Given the description of an element on the screen output the (x, y) to click on. 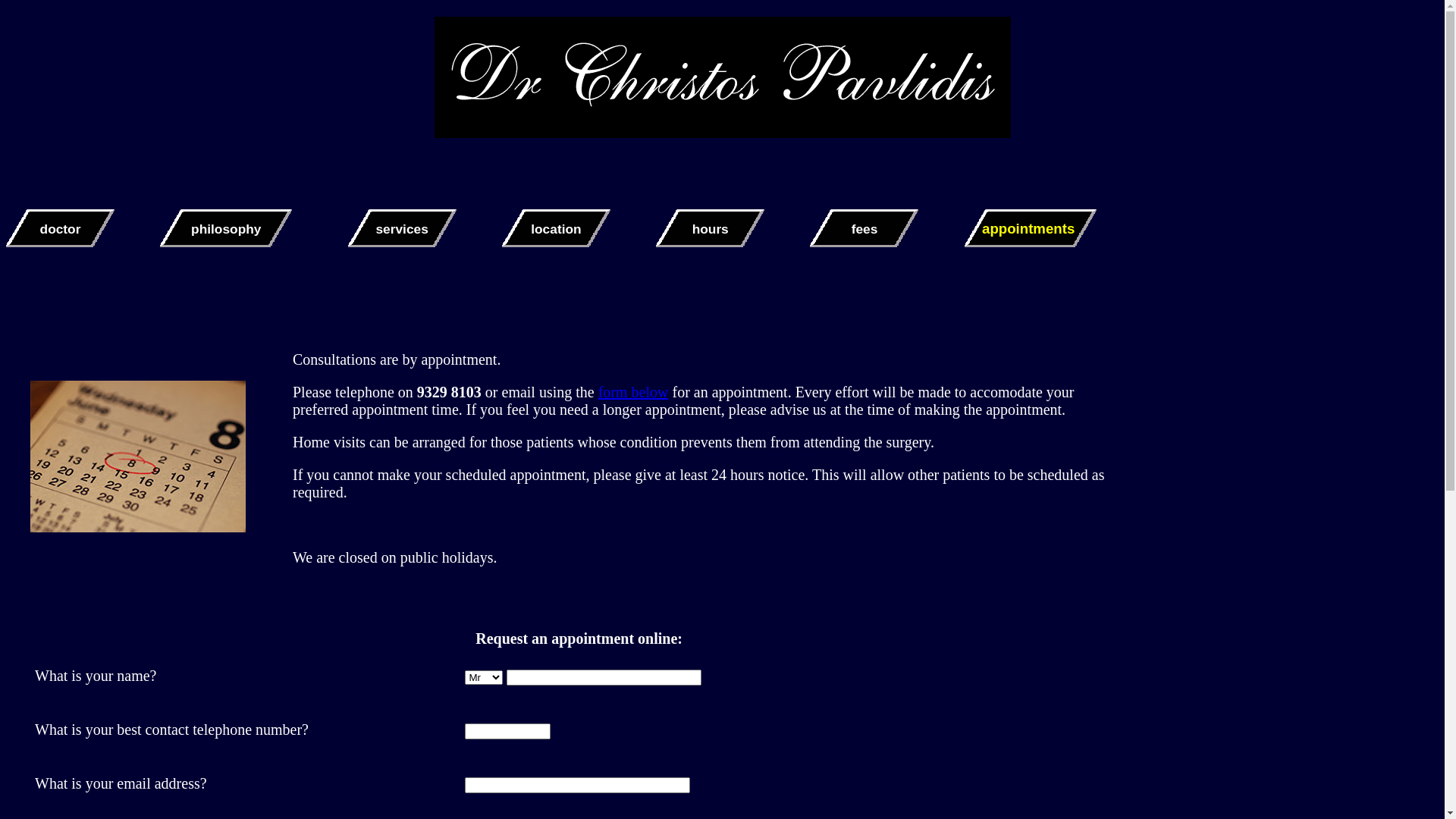
fees Element type: text (863, 228)
doctor Element type: text (60, 228)
form below Element type: text (633, 391)
services Element type: text (402, 228)
appointments  Element type: text (1030, 228)
location Element type: text (556, 228)
hours Element type: text (709, 228)
philosophy Element type: text (225, 228)
